Given the description of an element on the screen output the (x, y) to click on. 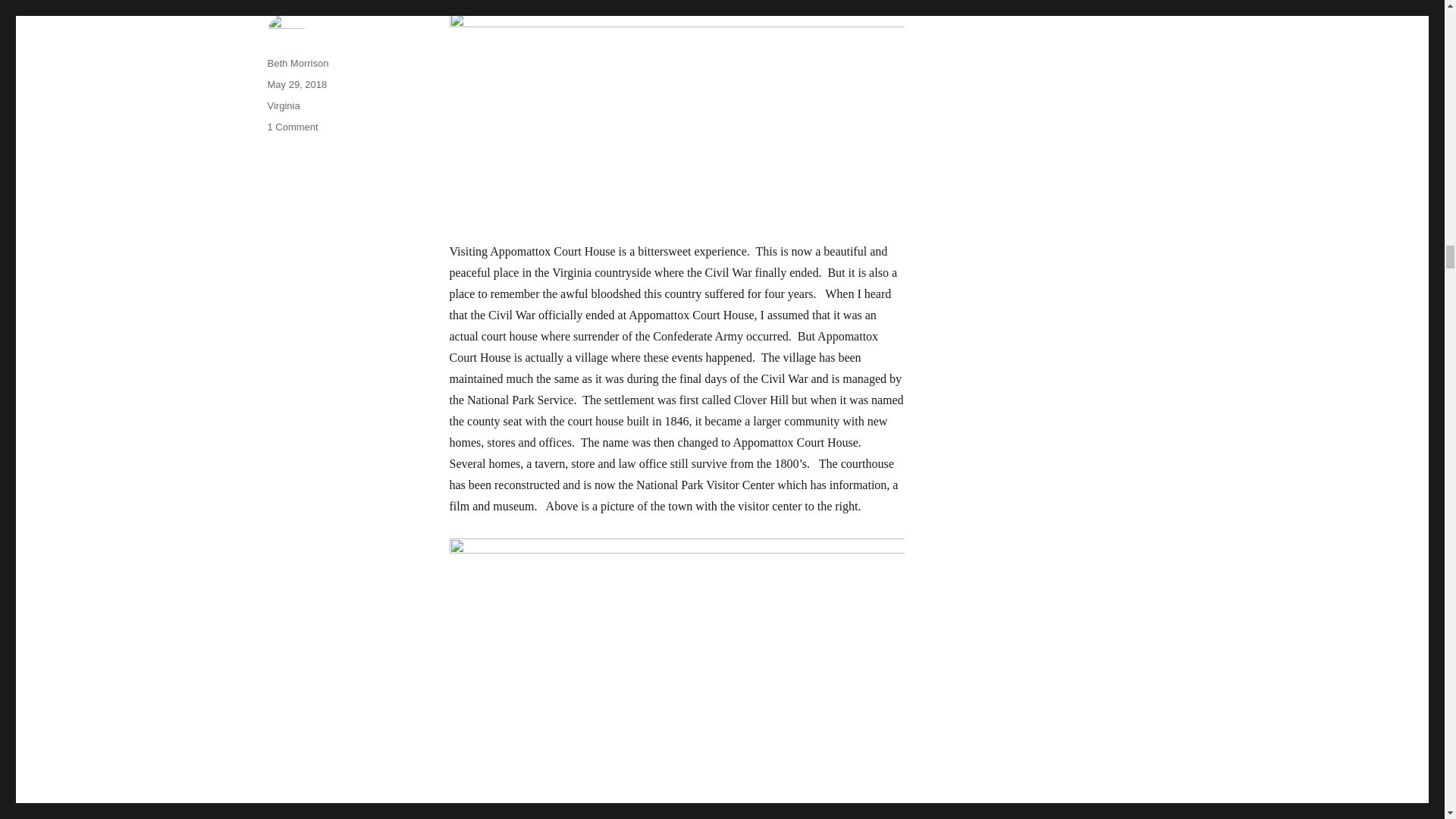
Virginia (282, 105)
May 29, 2018 (296, 84)
Beth Morrison (297, 62)
